Given the description of an element on the screen output the (x, y) to click on. 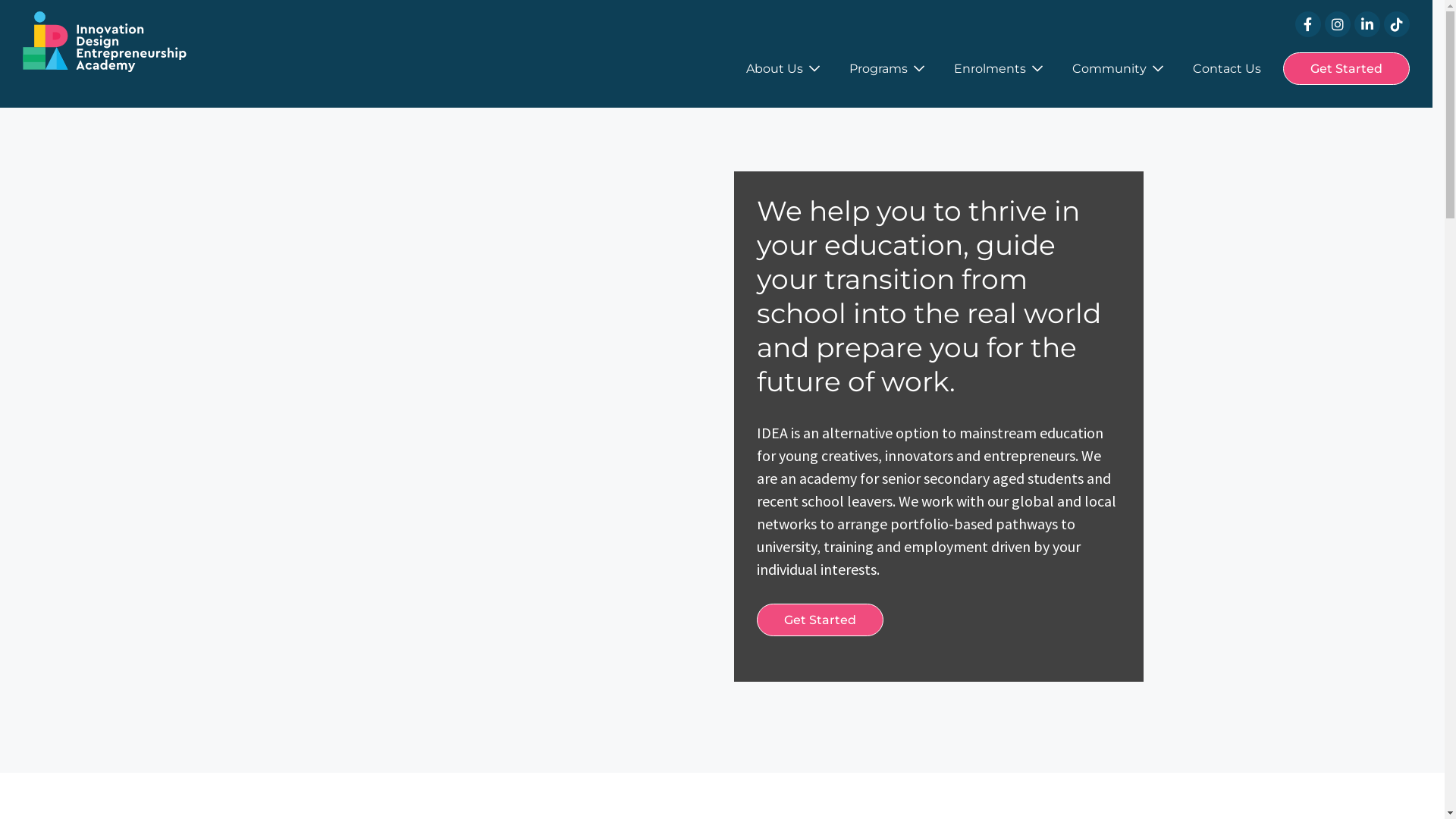
Get Started Element type: text (1346, 68)
Programs Element type: text (886, 68)
IDEA Element type: hover (104, 41)
Contact Us Element type: text (1226, 68)
About Us Element type: text (782, 68)
Community Element type: text (1117, 68)
Enrolments Element type: text (997, 68)
Get Started Element type: text (819, 619)
